Given the description of an element on the screen output the (x, y) to click on. 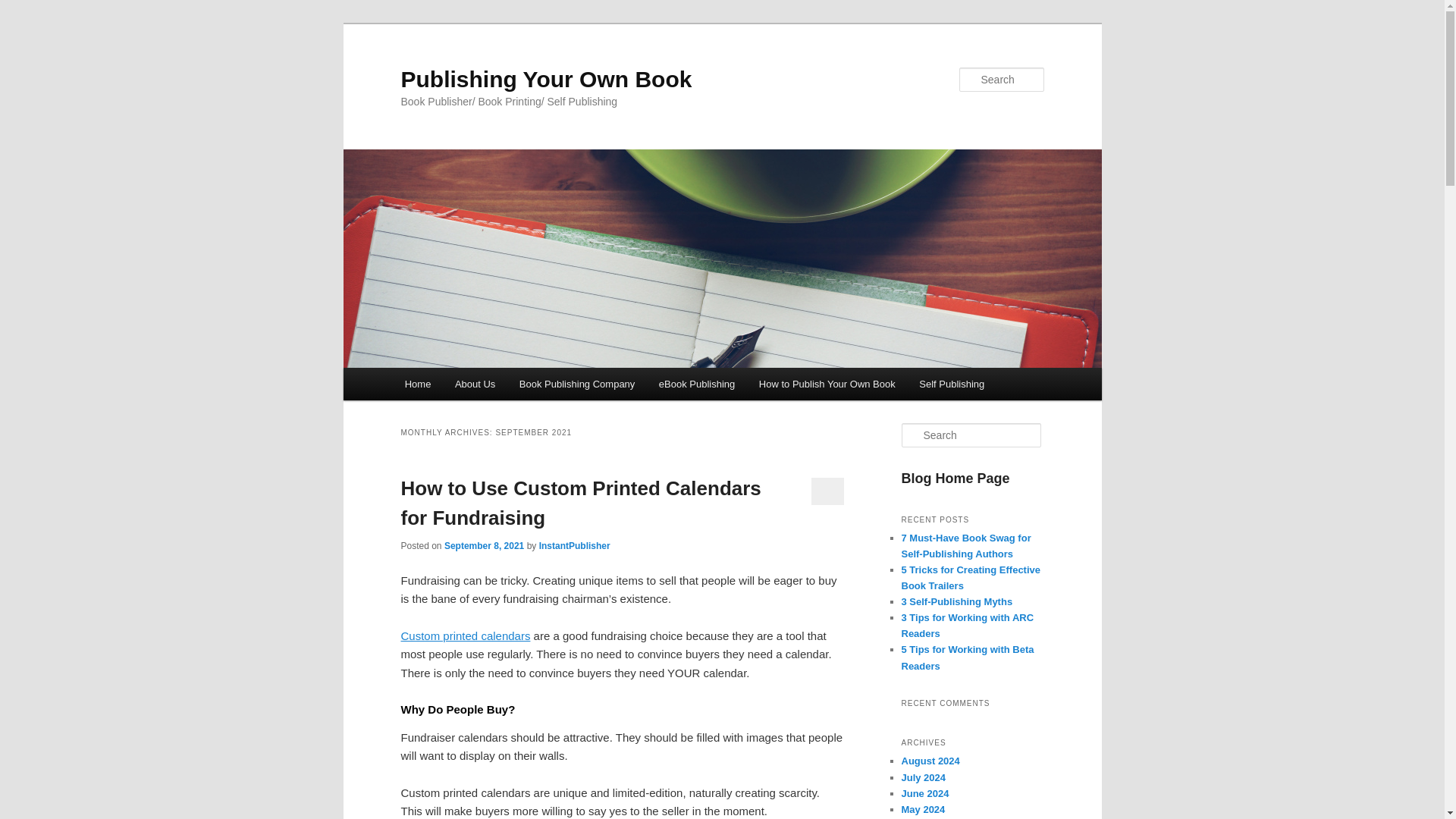
View all posts by InstantPublisher (574, 545)
About Us (474, 383)
Search (24, 8)
Search (21, 11)
3 Tips for Working with ARC Readers (967, 625)
How to Publish Your Own Book (826, 383)
September 8, 2021 (484, 545)
12:00 am (484, 545)
July 2024 (922, 777)
